Given the description of an element on the screen output the (x, y) to click on. 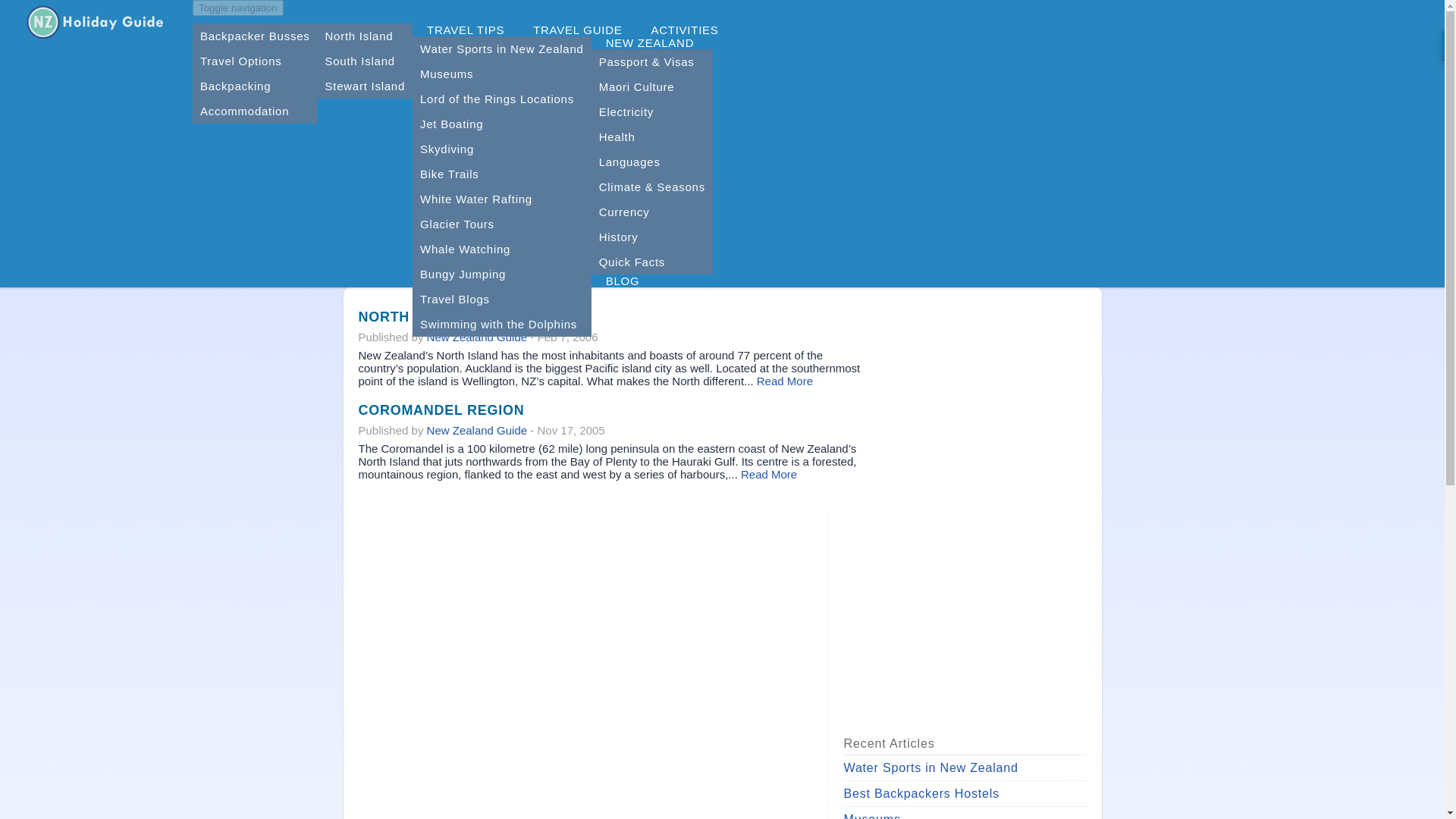
History (652, 236)
Skydiving (501, 148)
Glacier Tours (501, 223)
Backpacker Busses (254, 35)
Glacier Tours (501, 223)
Stewart Island (364, 85)
NORTH ISLAND (412, 316)
Lord of the Rings Locations (501, 98)
Whale Watching (501, 248)
Accommodation (254, 110)
